Given the description of an element on the screen output the (x, y) to click on. 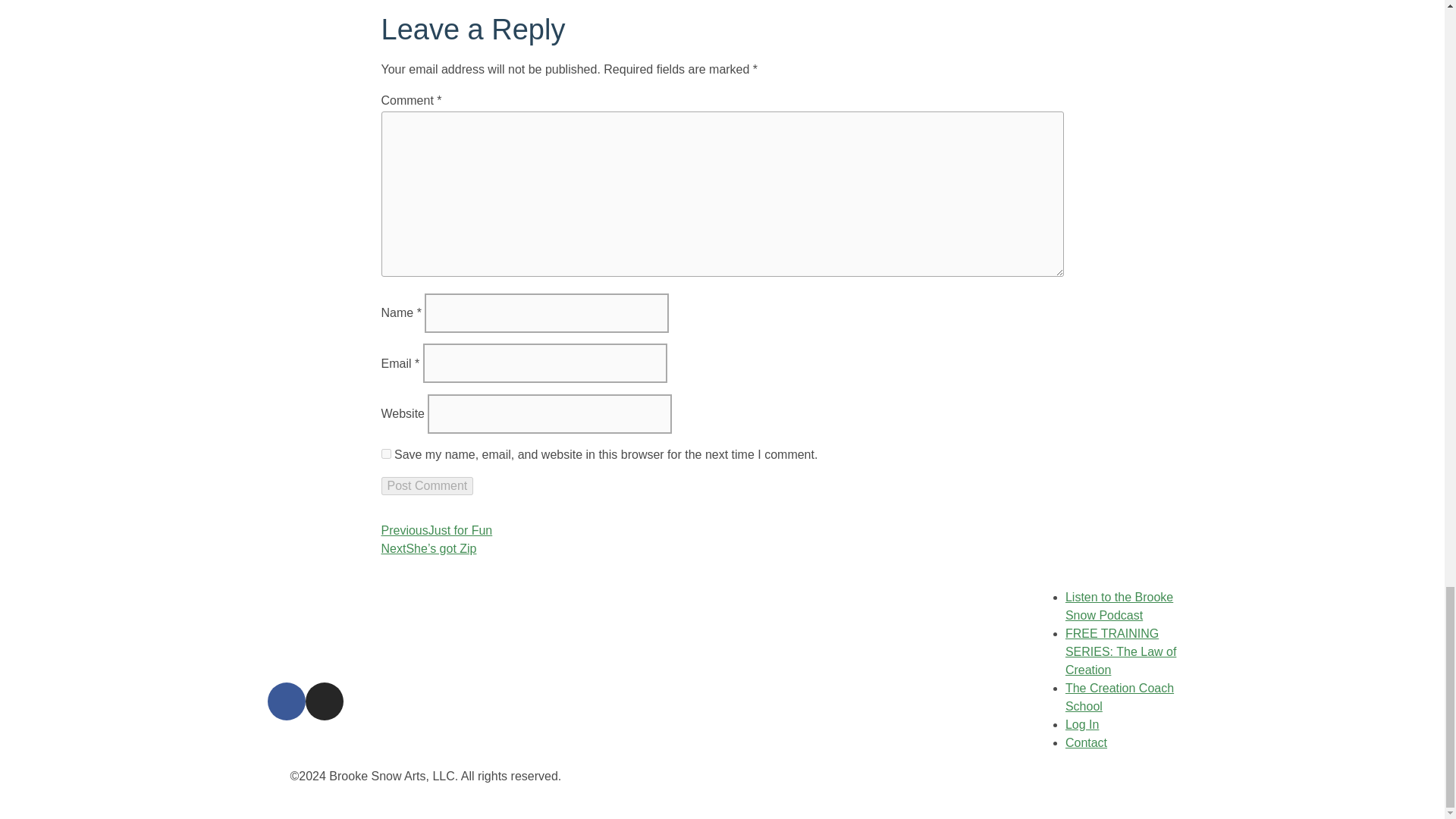
Listen to the Brooke Snow Podcast (1119, 605)
Post Comment (426, 485)
Post Comment (426, 485)
Contact (1085, 742)
PreviousJust for Fun (436, 530)
FREE TRAINING SERIES: The Law of Creation (1120, 651)
The Creation Coach School (1119, 696)
yes (385, 453)
Log In (1082, 724)
